Given the description of an element on the screen output the (x, y) to click on. 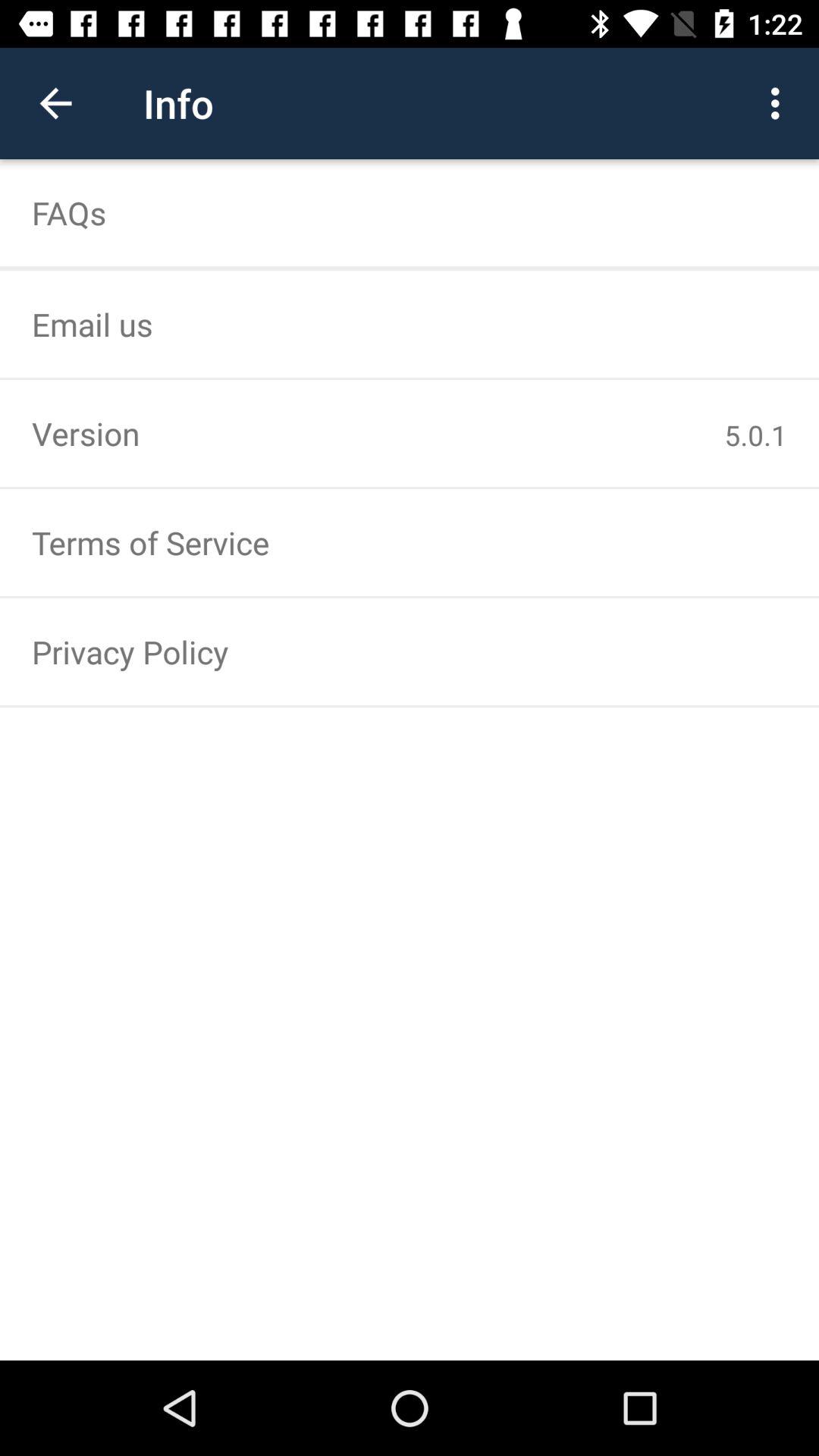
choose faqs item (409, 212)
